Given the description of an element on the screen output the (x, y) to click on. 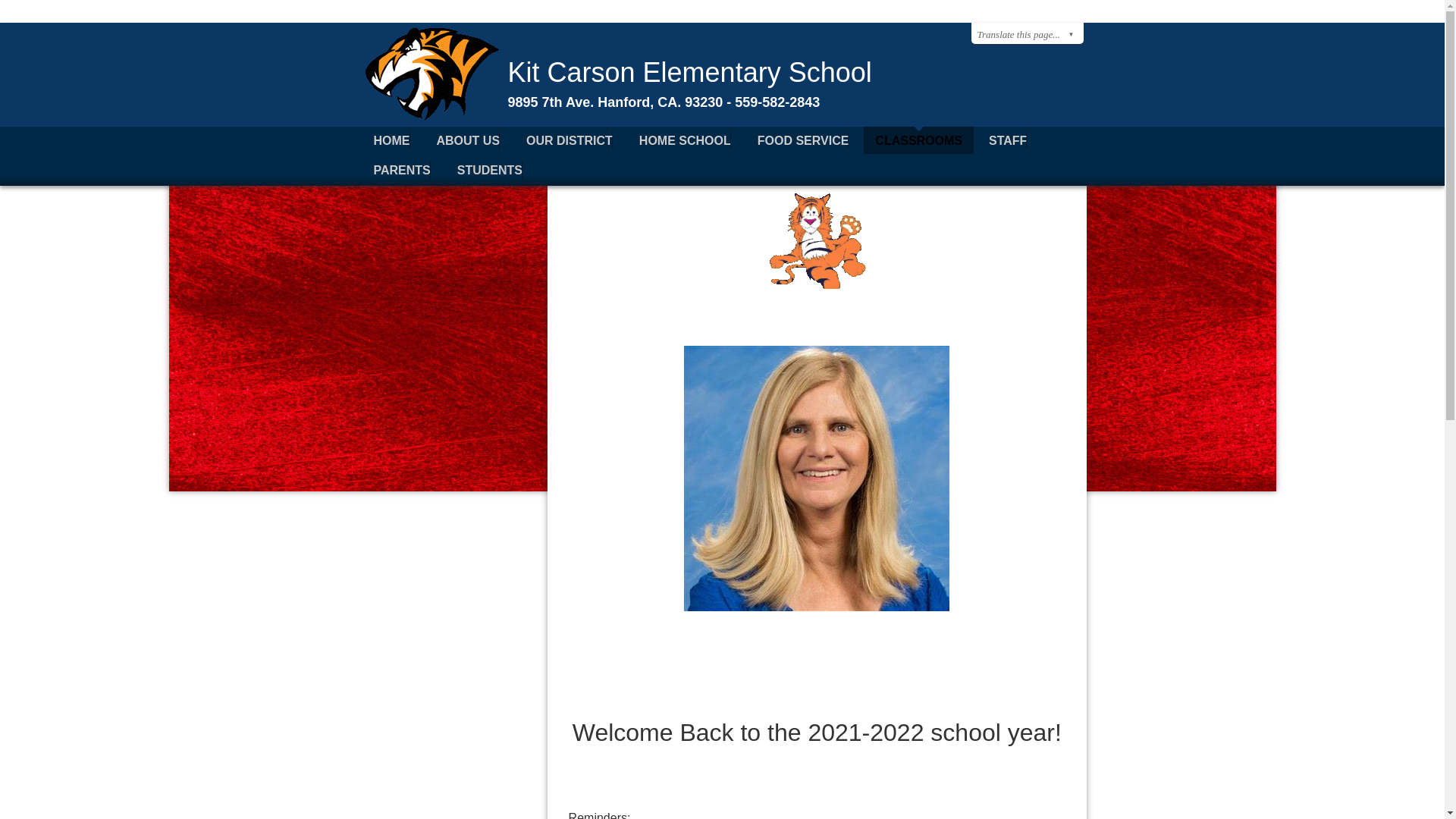
Kit Carson Union Elementary School District (428, 118)
